Given the description of an element on the screen output the (x, y) to click on. 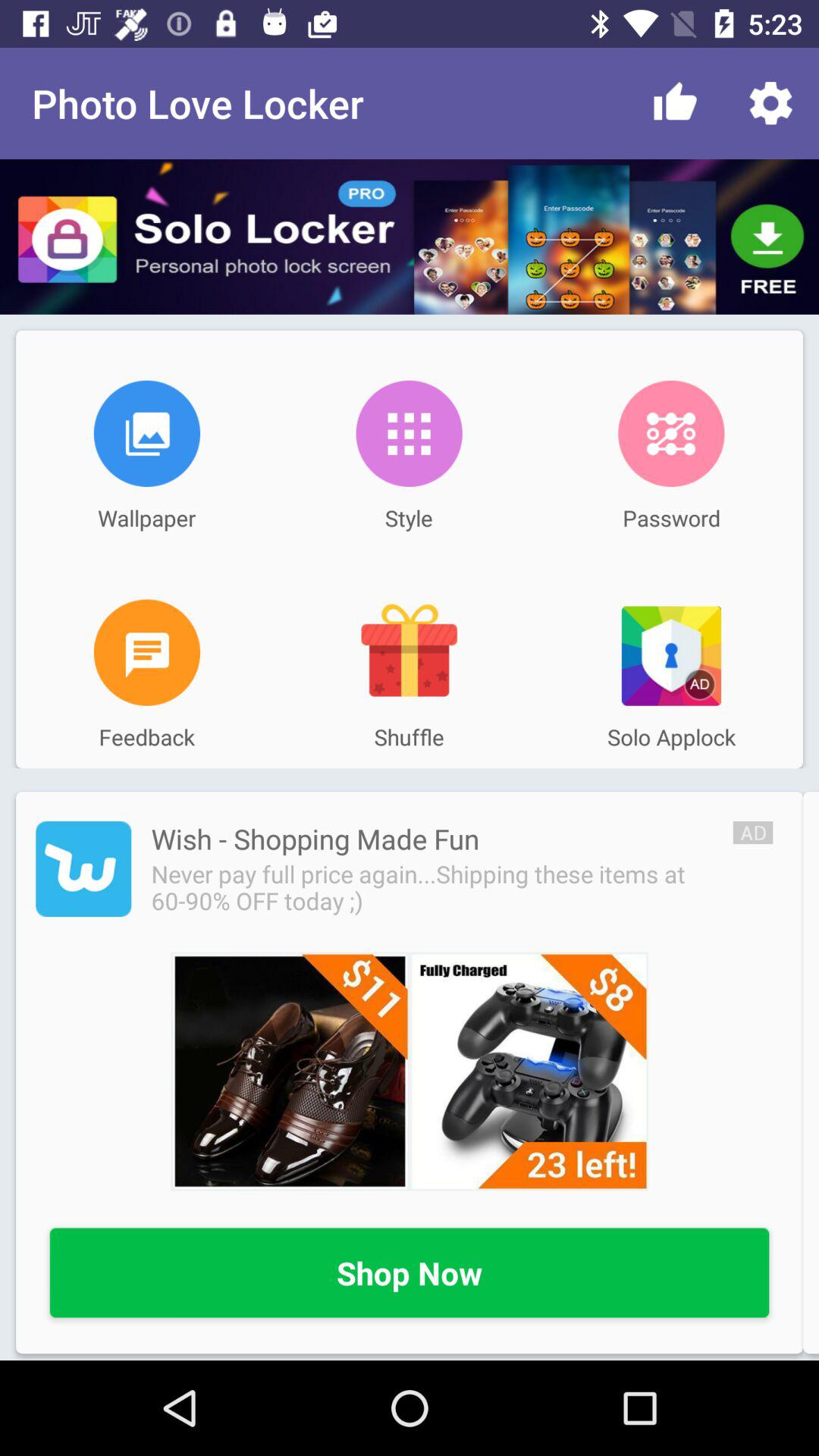
wish homepage (83, 868)
